Given the description of an element on the screen output the (x, y) to click on. 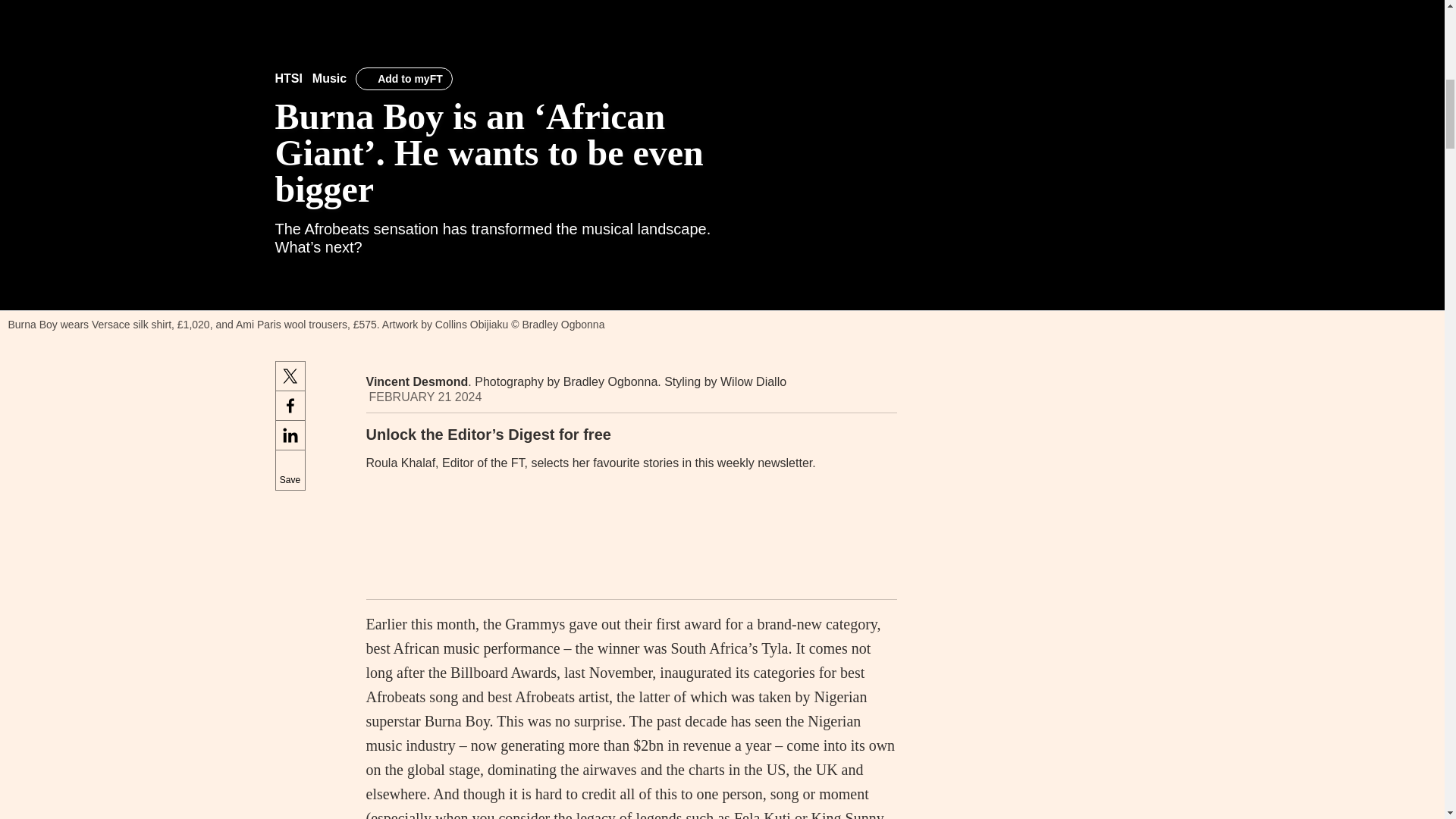
February 21 2024 1:00 pm (424, 396)
Print this page (879, 389)
Add Music to myFT (403, 78)
